Given the description of an element on the screen output the (x, y) to click on. 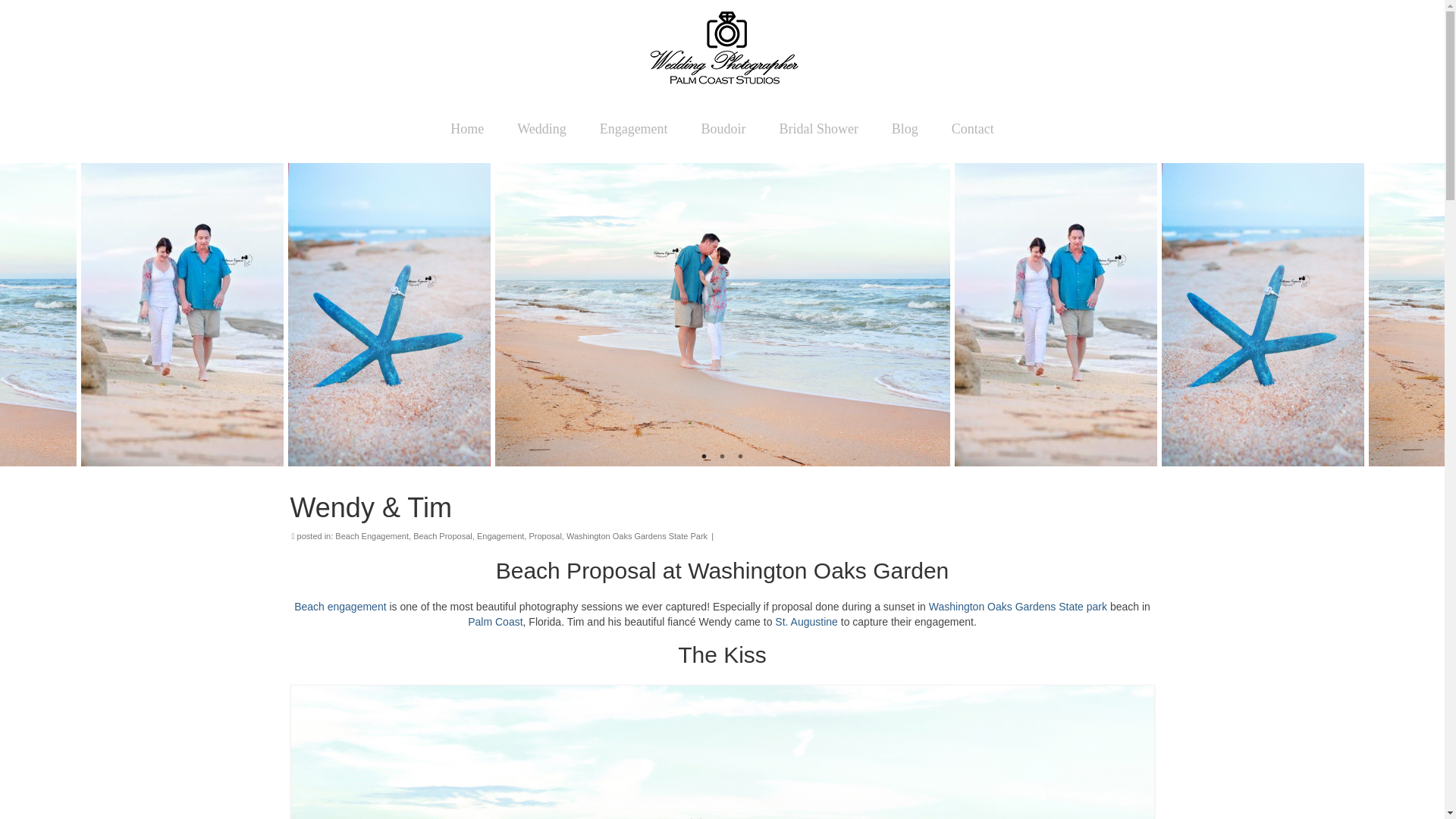
Blog (904, 128)
Boudoir (722, 128)
Wedding Photography Palm Coast Studios (724, 48)
Home (467, 128)
Wedding (541, 128)
Bridal Shower (817, 128)
Contact (972, 128)
Engagement (633, 128)
